Given the description of an element on the screen output the (x, y) to click on. 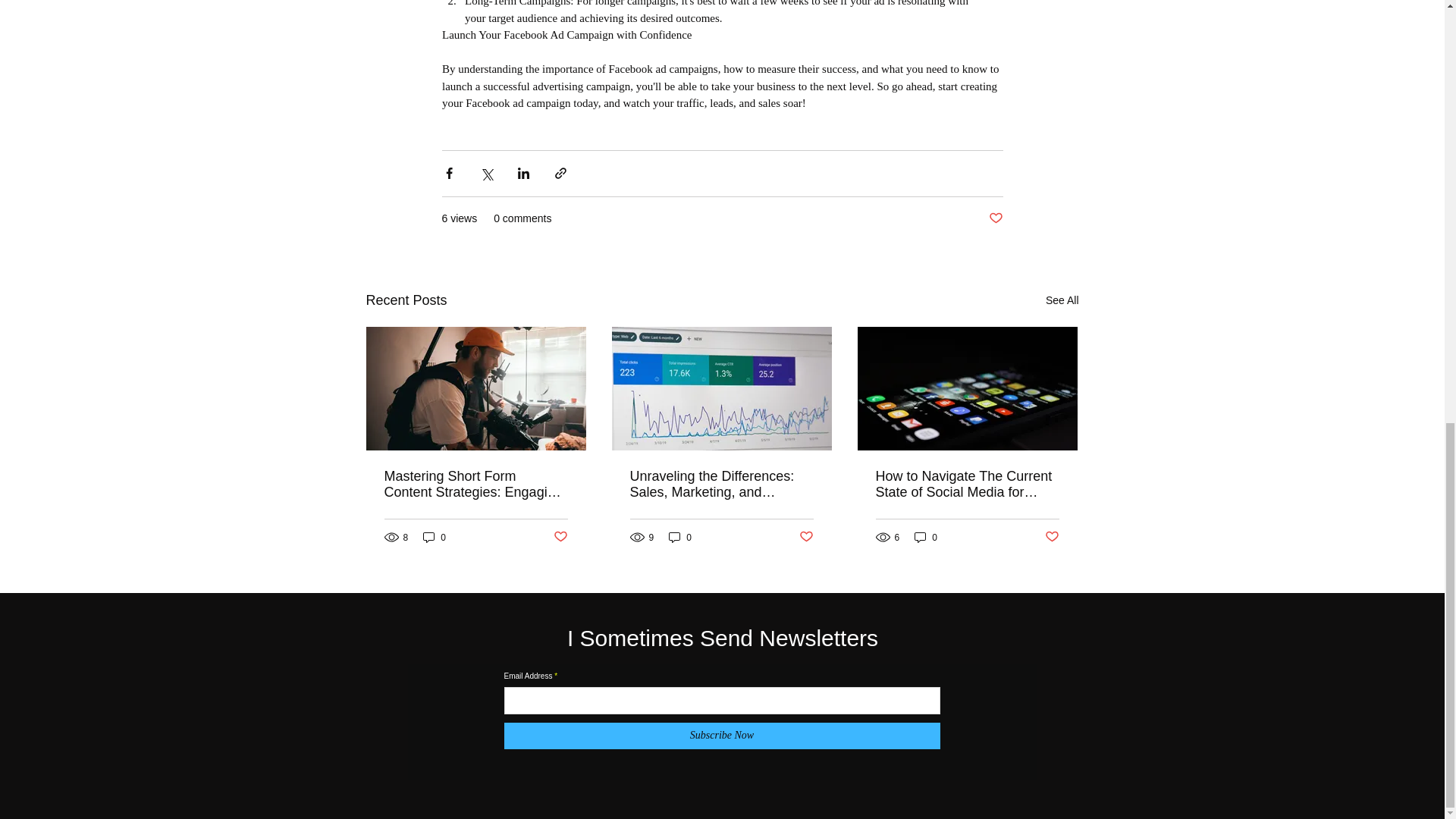
Post not marked as liked (995, 218)
See All (1061, 300)
Post not marked as liked (806, 537)
0 (434, 536)
0 (679, 536)
0 (925, 536)
Post not marked as liked (1052, 537)
Post not marked as liked (560, 537)
Subscribe Now (721, 735)
